Given the description of an element on the screen output the (x, y) to click on. 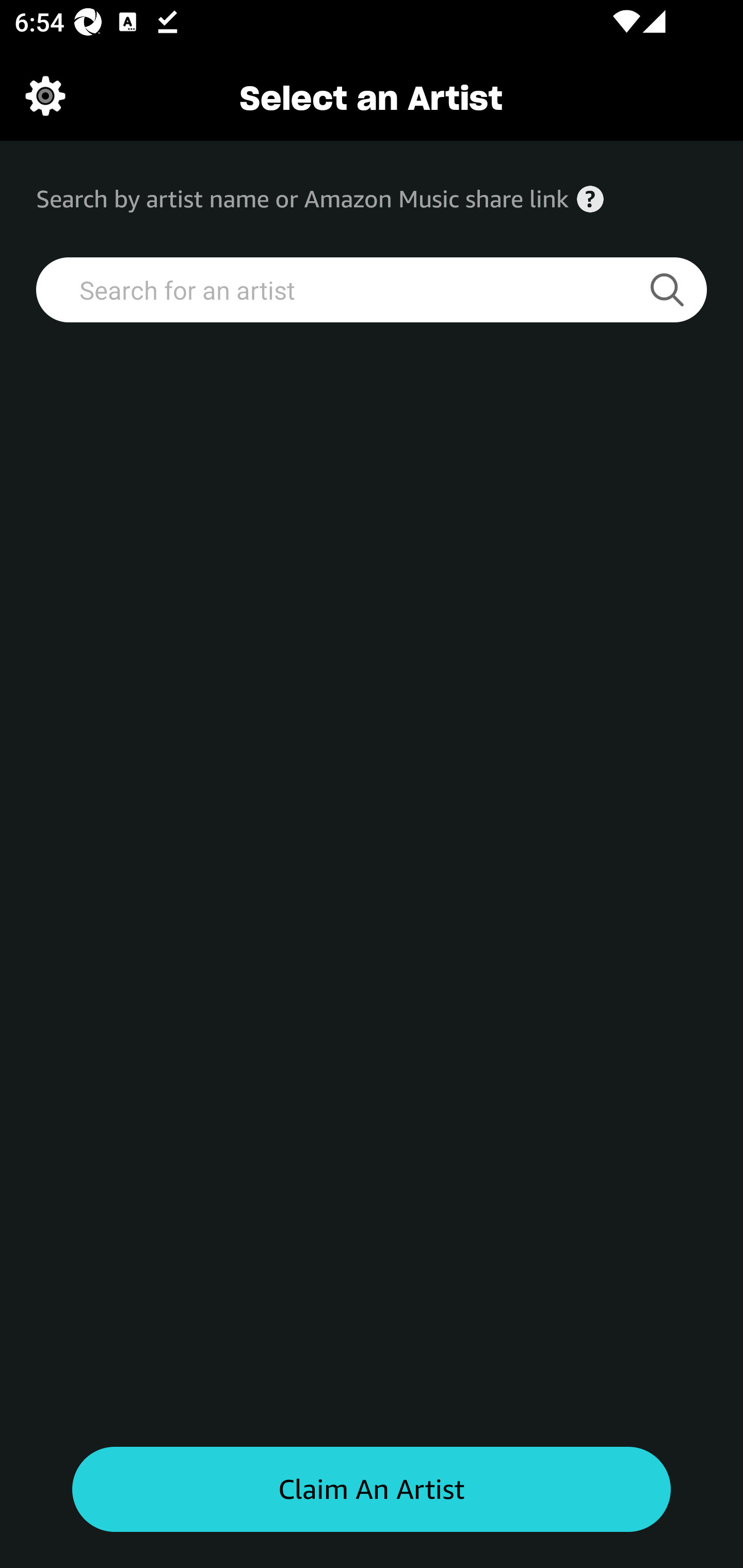
Help  icon (589, 199)
Claim an artist button Claim An Artist (371, 1489)
